Given the description of an element on the screen output the (x, y) to click on. 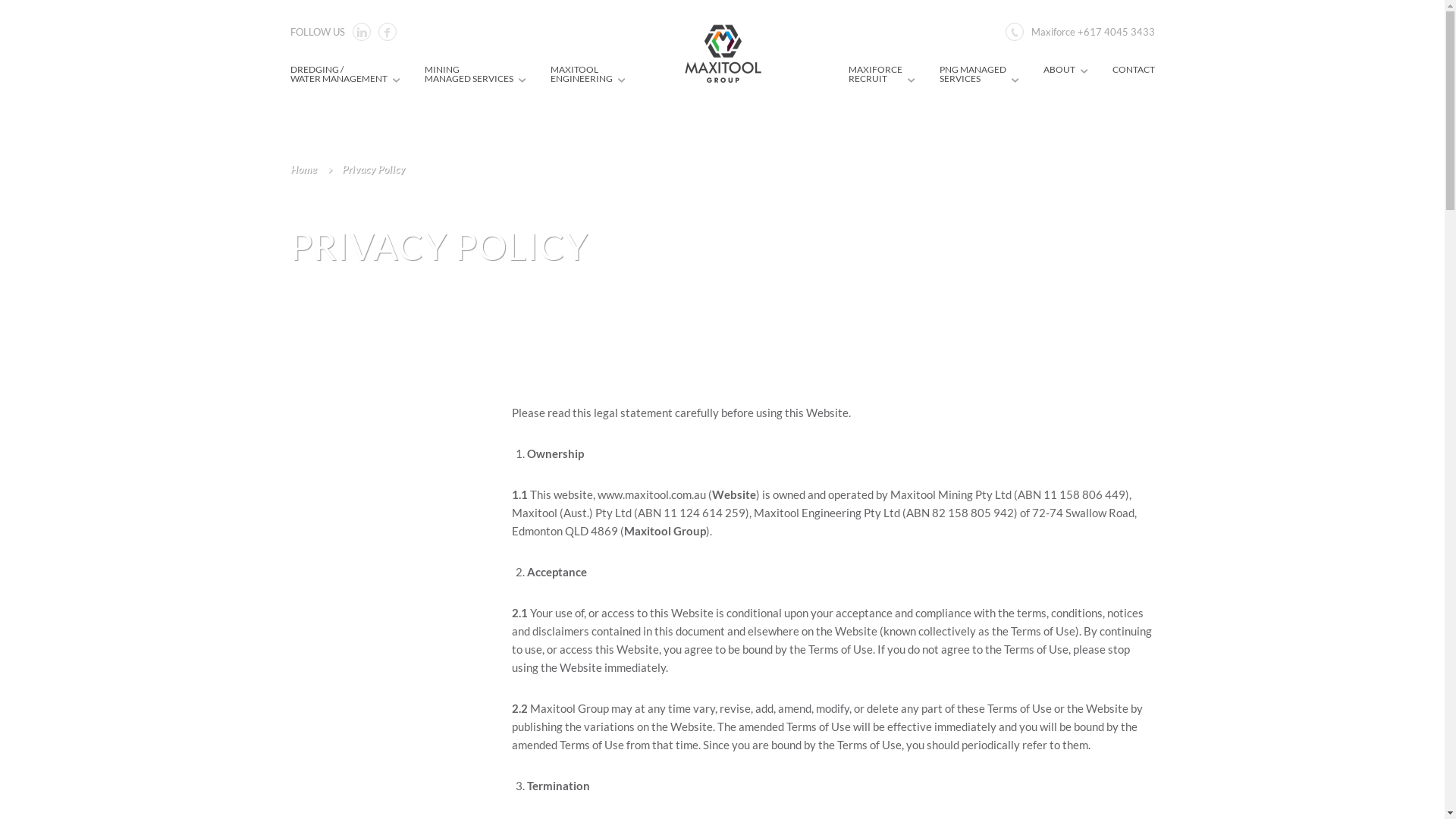
Linkedin Element type: text (360, 31)
MINING
MANAGED SERVICES Element type: text (473, 74)
DREDGING /
WATER MANAGEMENT Element type: text (342, 74)
Facebook Element type: text (386, 31)
CONTACT Element type: text (1132, 69)
MAXIFORCE
RECRUIT Element type: text (879, 74)
Maxiforce +617 4045 3433 Element type: text (1092, 31)
PNG MANAGED
SERVICES Element type: text (976, 74)
ABOUT Element type: text (1064, 69)
Home Element type: text (313, 168)
MAXITOOL
ENGINEERING Element type: text (586, 74)
